Given the description of an element on the screen output the (x, y) to click on. 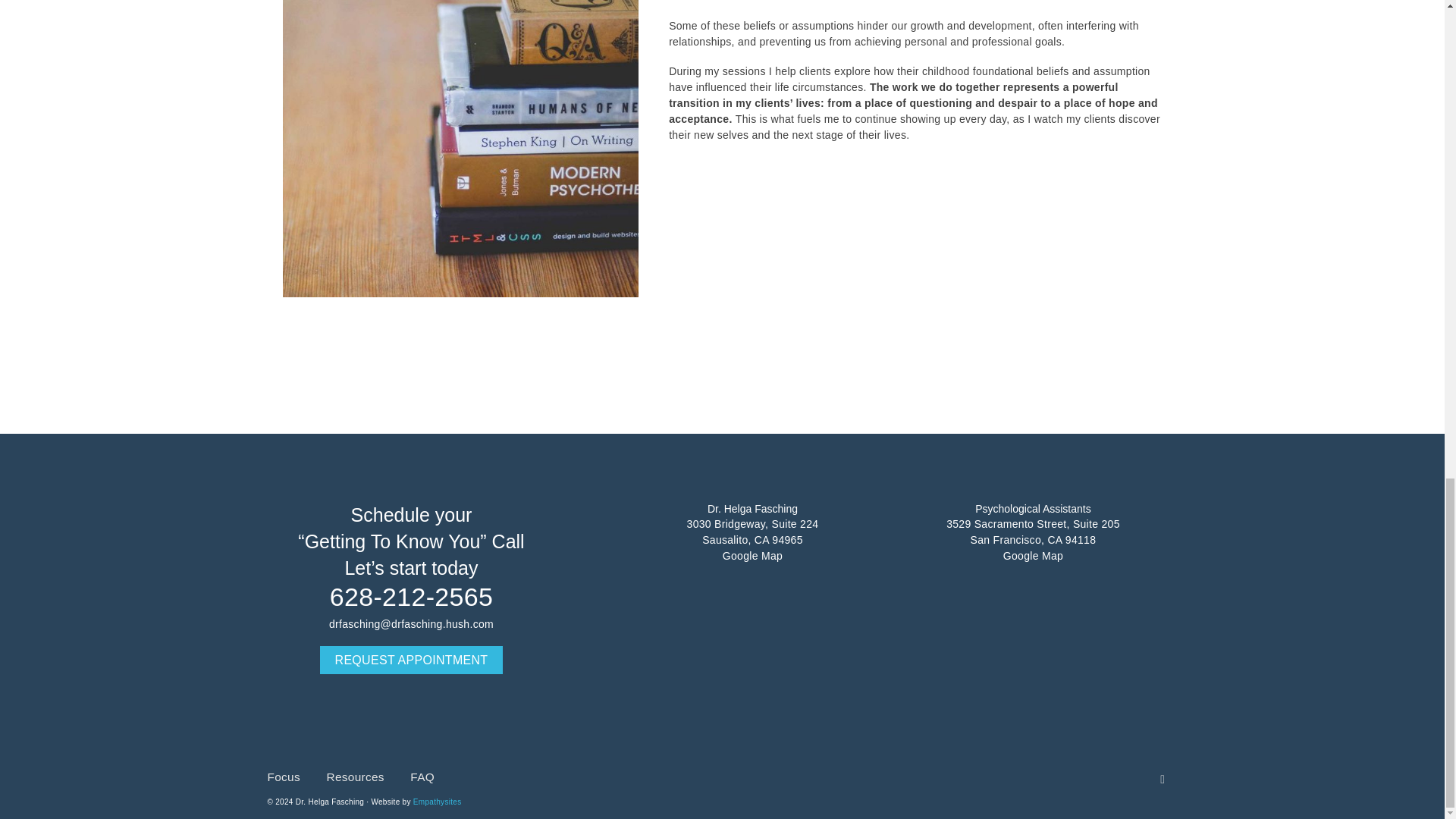
REQUEST APPOINTMENT (411, 660)
Google Map (1032, 555)
dr-helga-fasching-psyd-san-francisco-therapist-11 (460, 148)
Focus (283, 782)
628-212-2565 (410, 597)
Resources (355, 782)
Empathysites (437, 801)
Google Map (752, 555)
Linkedin (1162, 779)
FAQ (421, 782)
